Given the description of an element on the screen output the (x, y) to click on. 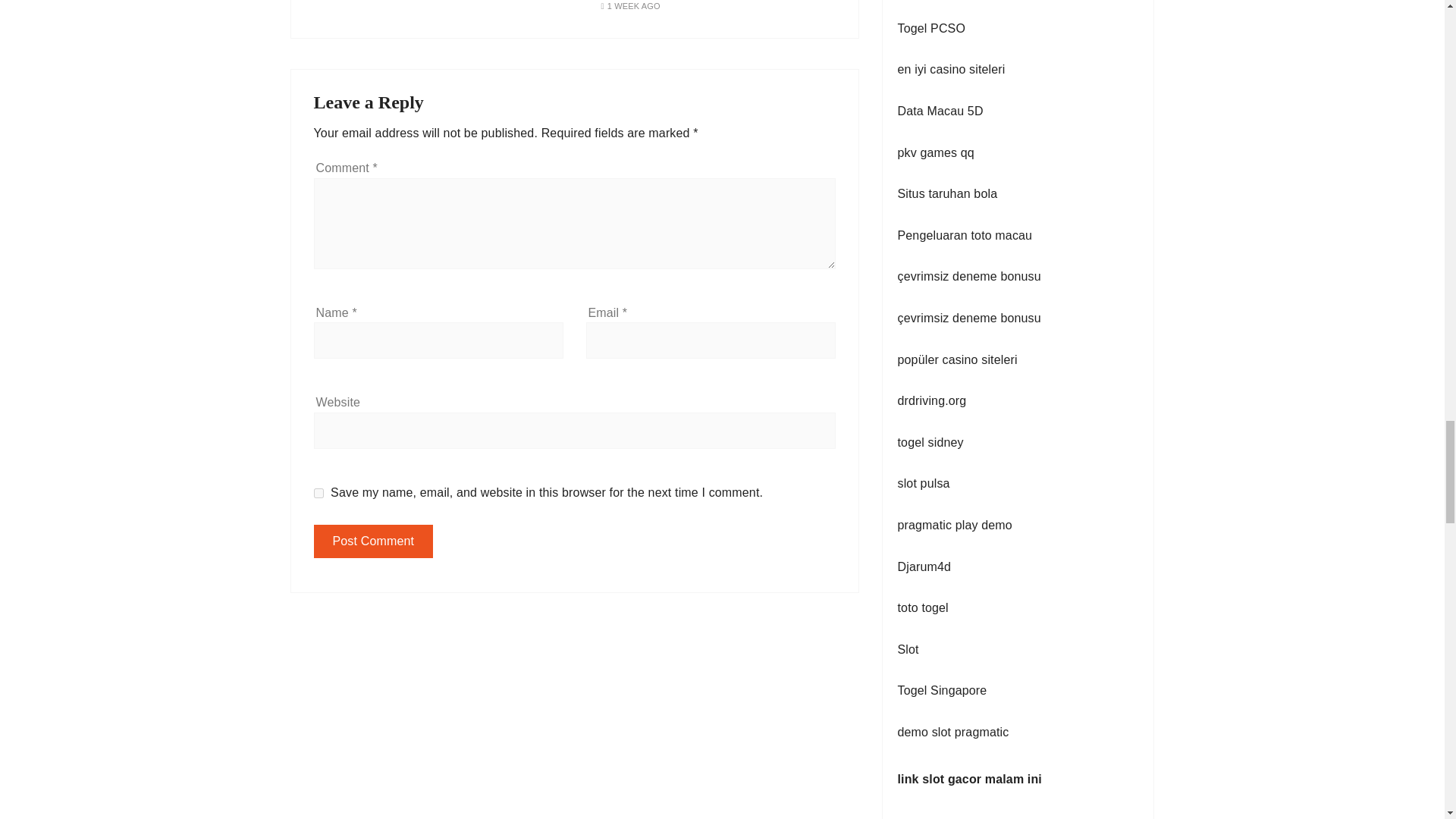
Post Comment (373, 540)
Post Comment (373, 540)
yes (318, 492)
